Given the description of an element on the screen output the (x, y) to click on. 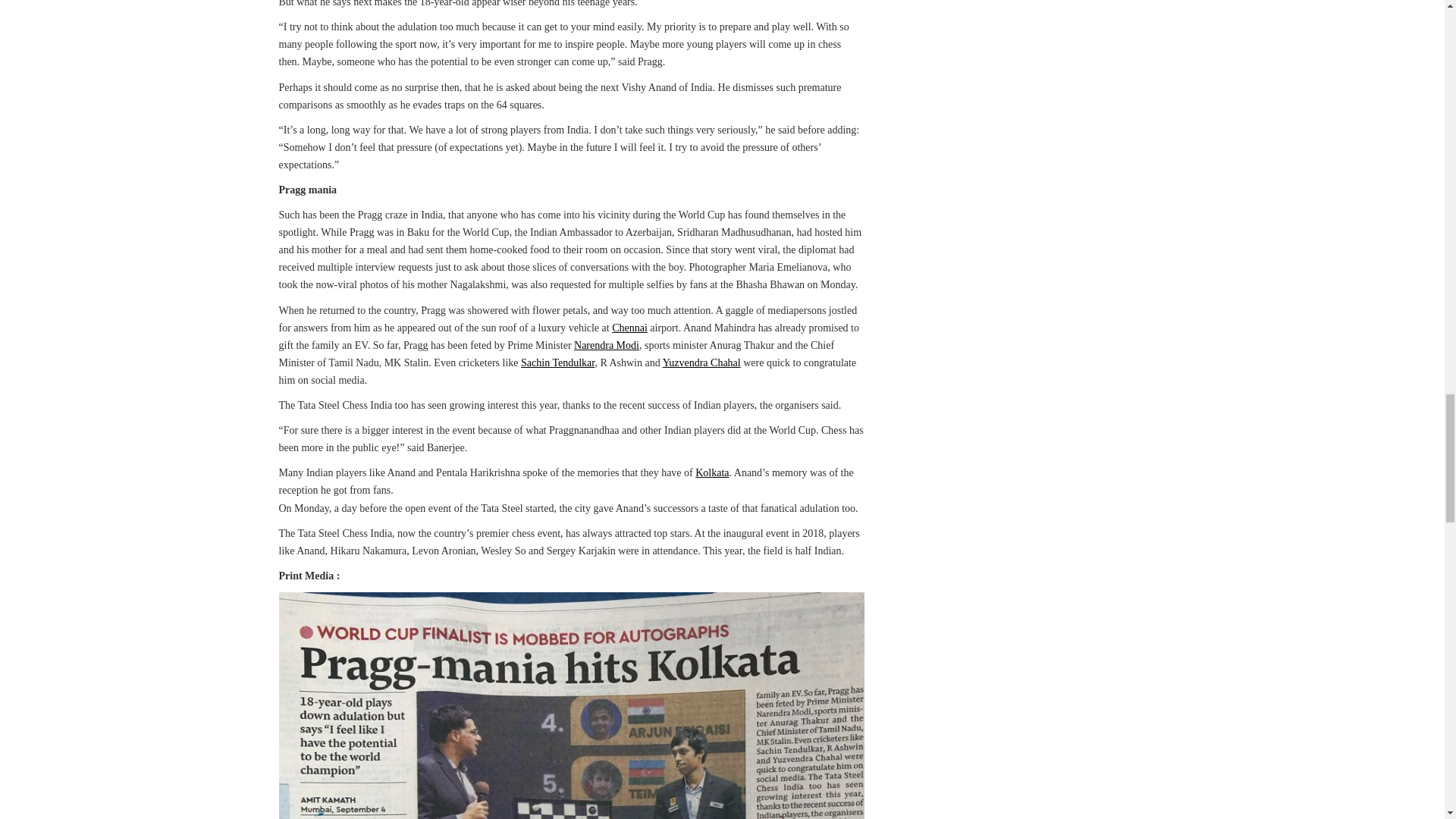
Kolkata (712, 472)
Chennai (629, 327)
Sachin Tendulkar (557, 362)
Yuzvendra Chahal (701, 362)
Narendra Modi (606, 345)
